Given the description of an element on the screen output the (x, y) to click on. 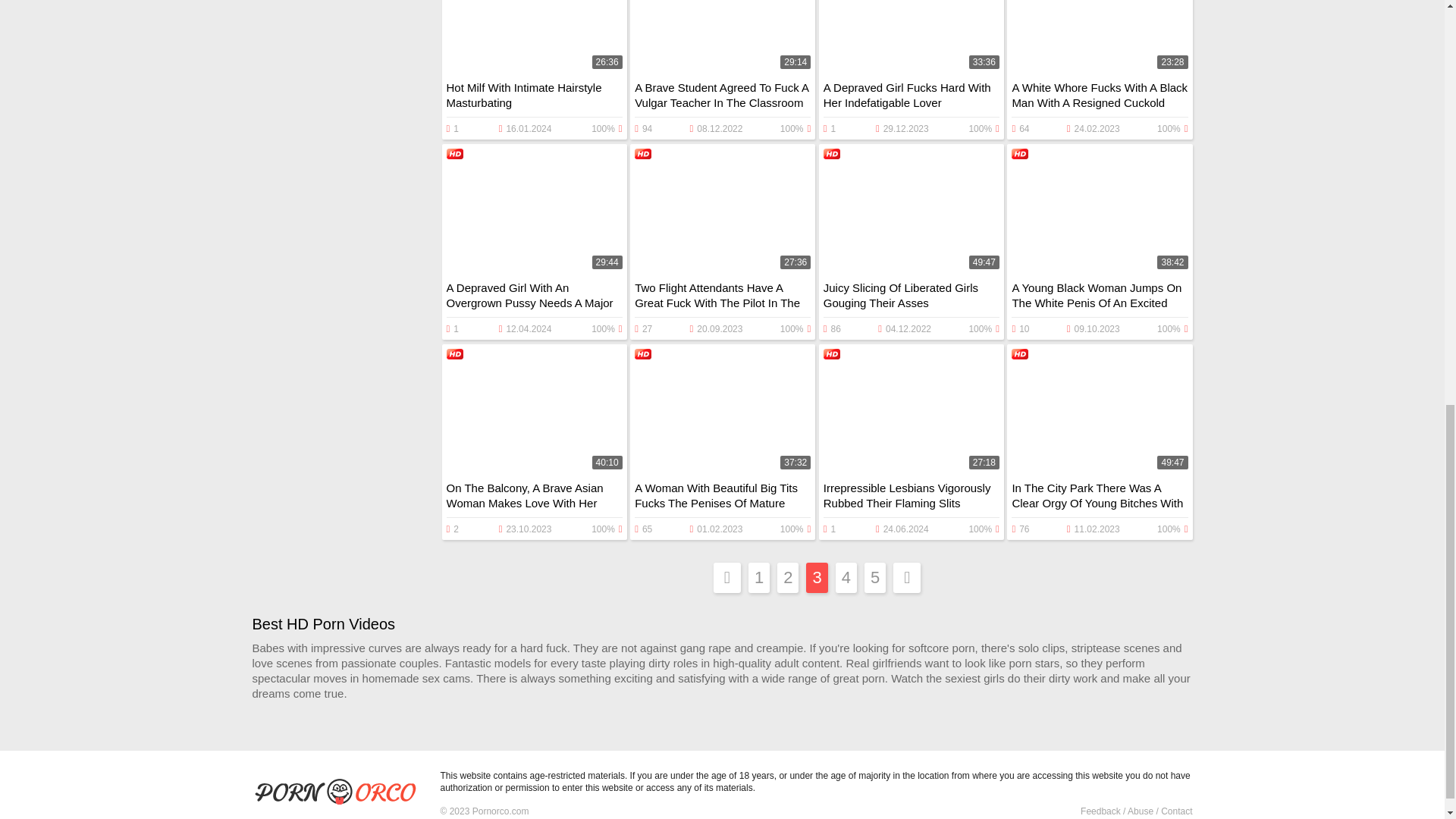
Next (906, 577)
Pornorco (339, 792)
Prev (727, 577)
